Given the description of an element on the screen output the (x, y) to click on. 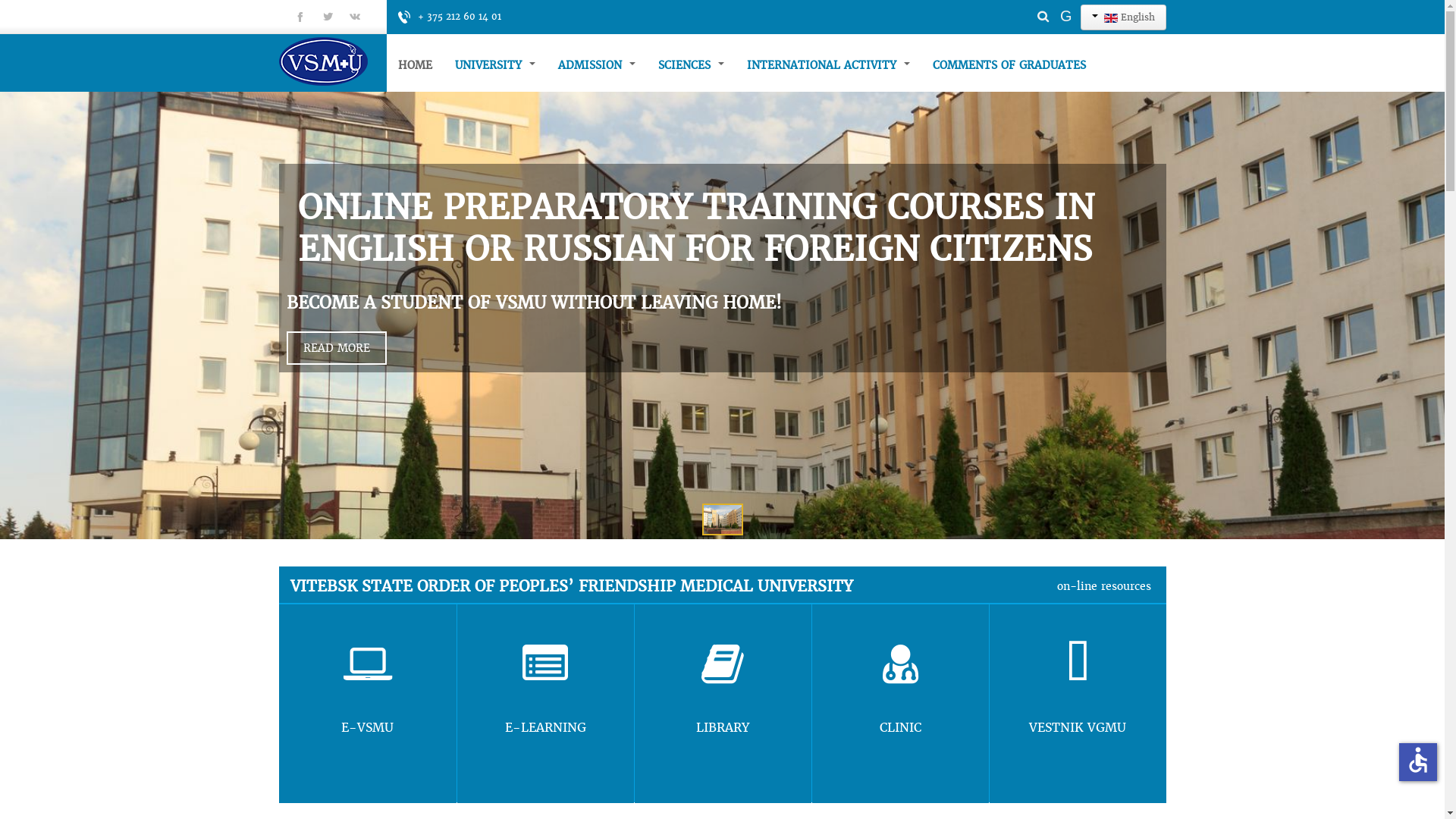
COMMENTS OF GRADUATES Element type: text (1008, 64)
G Element type: text (1066, 15)
UNIVERSITY Element type: text (494, 64)
tt Element type: text (327, 17)
HOME Element type: text (414, 64)
INTERNATIONAL ACTIVITY Element type: text (828, 64)
CLINIC Element type: text (899, 703)
SCIENCES Element type: text (690, 64)
fb Element type: text (299, 17)
ADMISSION Element type: text (596, 64)
VESTNIK VGMU Element type: text (1076, 703)
READ MORE Element type: text (336, 347)
E-LEARNING Element type: text (544, 703)
LIBRARY Element type: text (721, 703)
  English Element type: text (1122, 17)
E-VSMU Element type: text (367, 703)
gp Element type: text (354, 17)
